Given the description of an element on the screen output the (x, y) to click on. 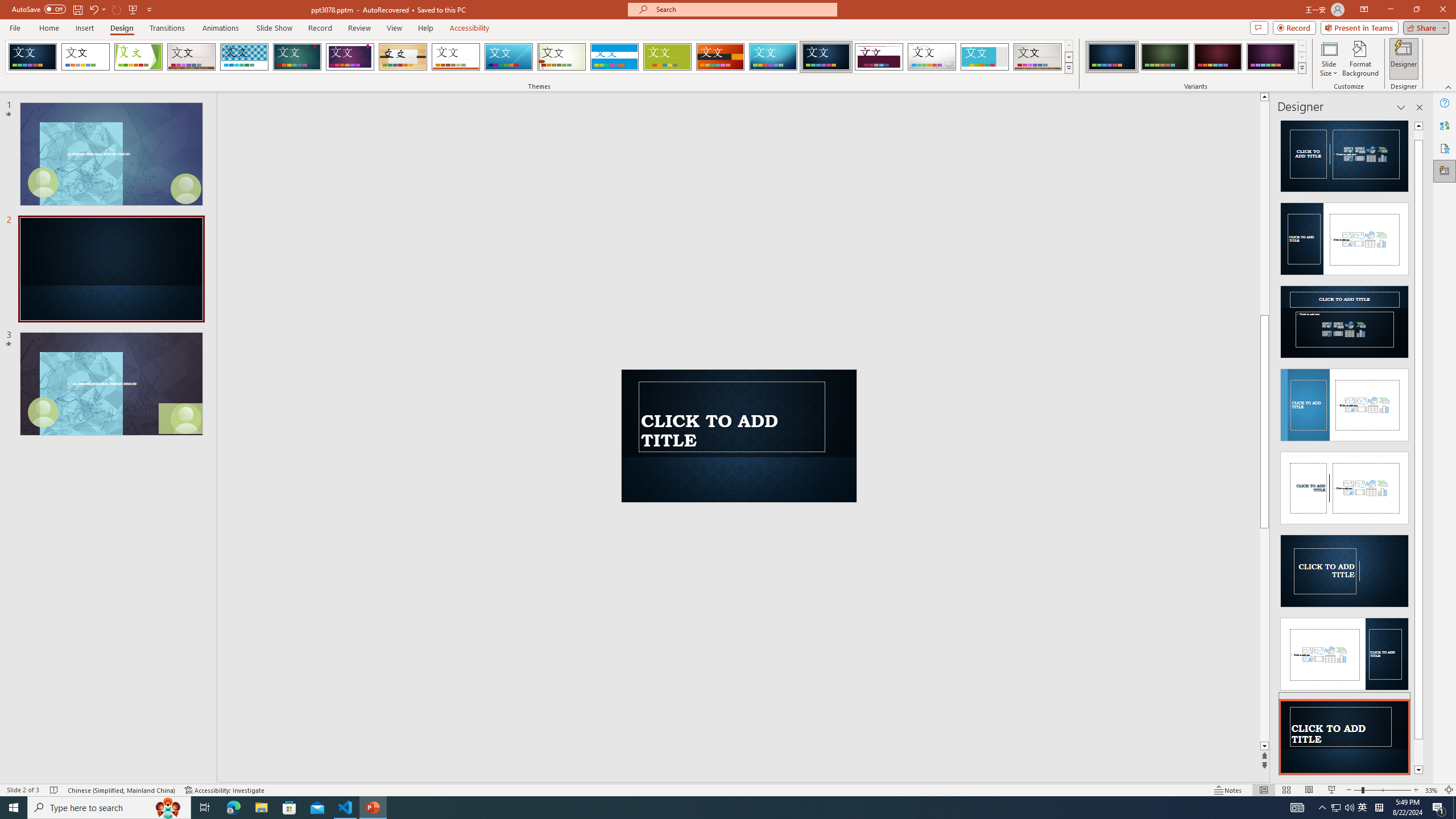
Dividend (879, 56)
Banded (614, 56)
Ion Boardroom (350, 56)
Frame (984, 56)
Integral (244, 56)
Damask (826, 56)
